Given the description of an element on the screen output the (x, y) to click on. 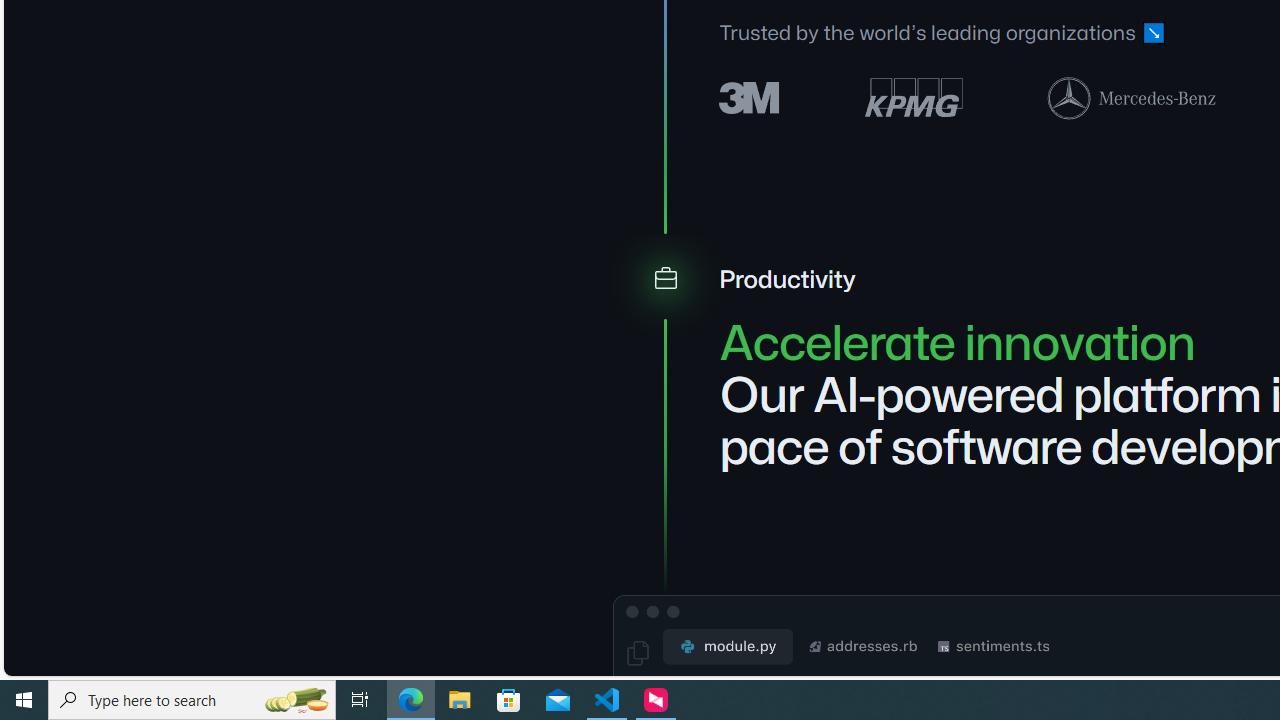
Mercedes-Benz logo (1132, 97)
3M logo (749, 96)
KPMG logo (913, 97)
